Given the description of an element on the screen output the (x, y) to click on. 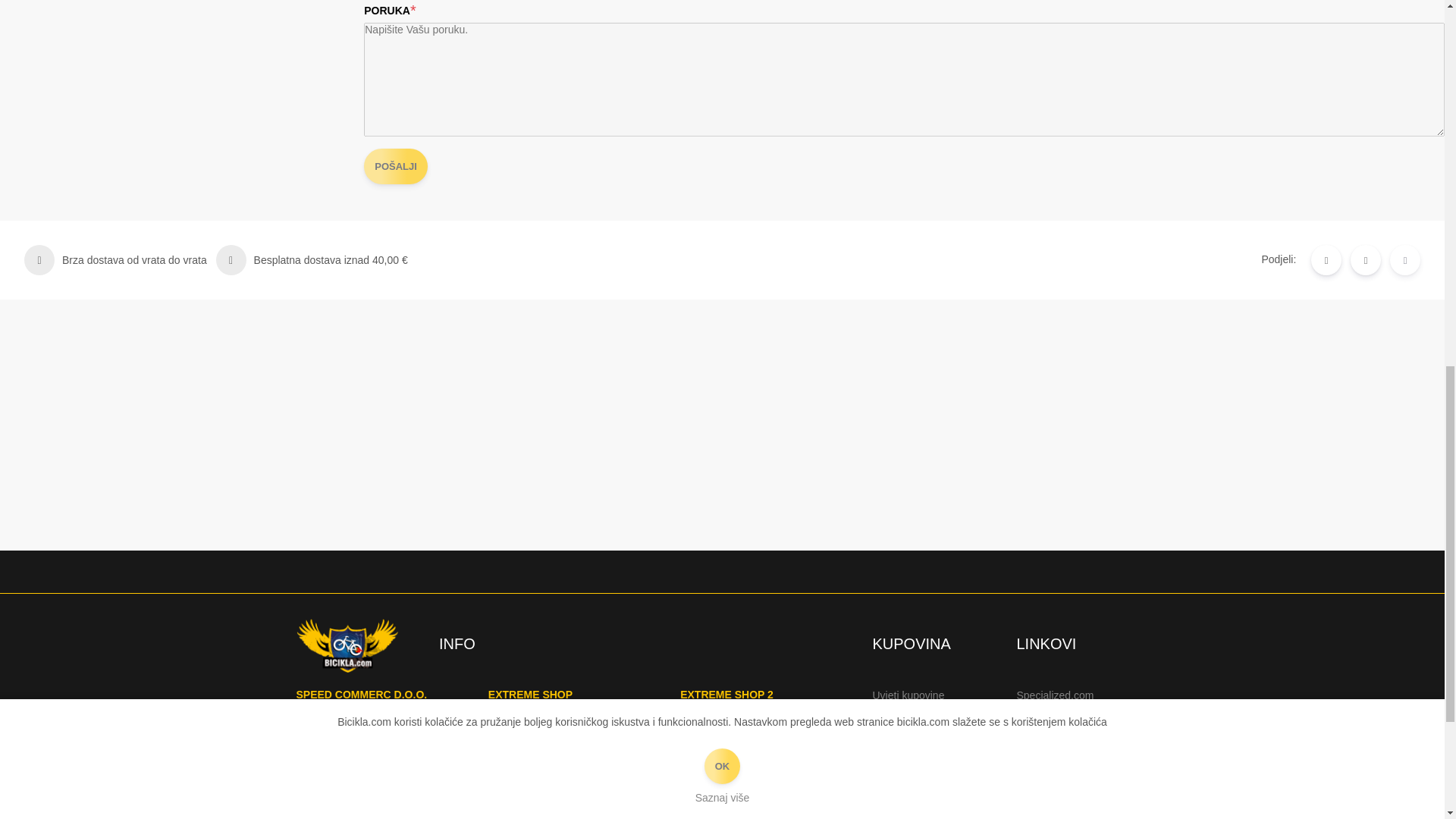
Twitter (1325, 259)
Facebook (1365, 259)
Podijeli s prijateljem (1405, 259)
